Given the description of an element on the screen output the (x, y) to click on. 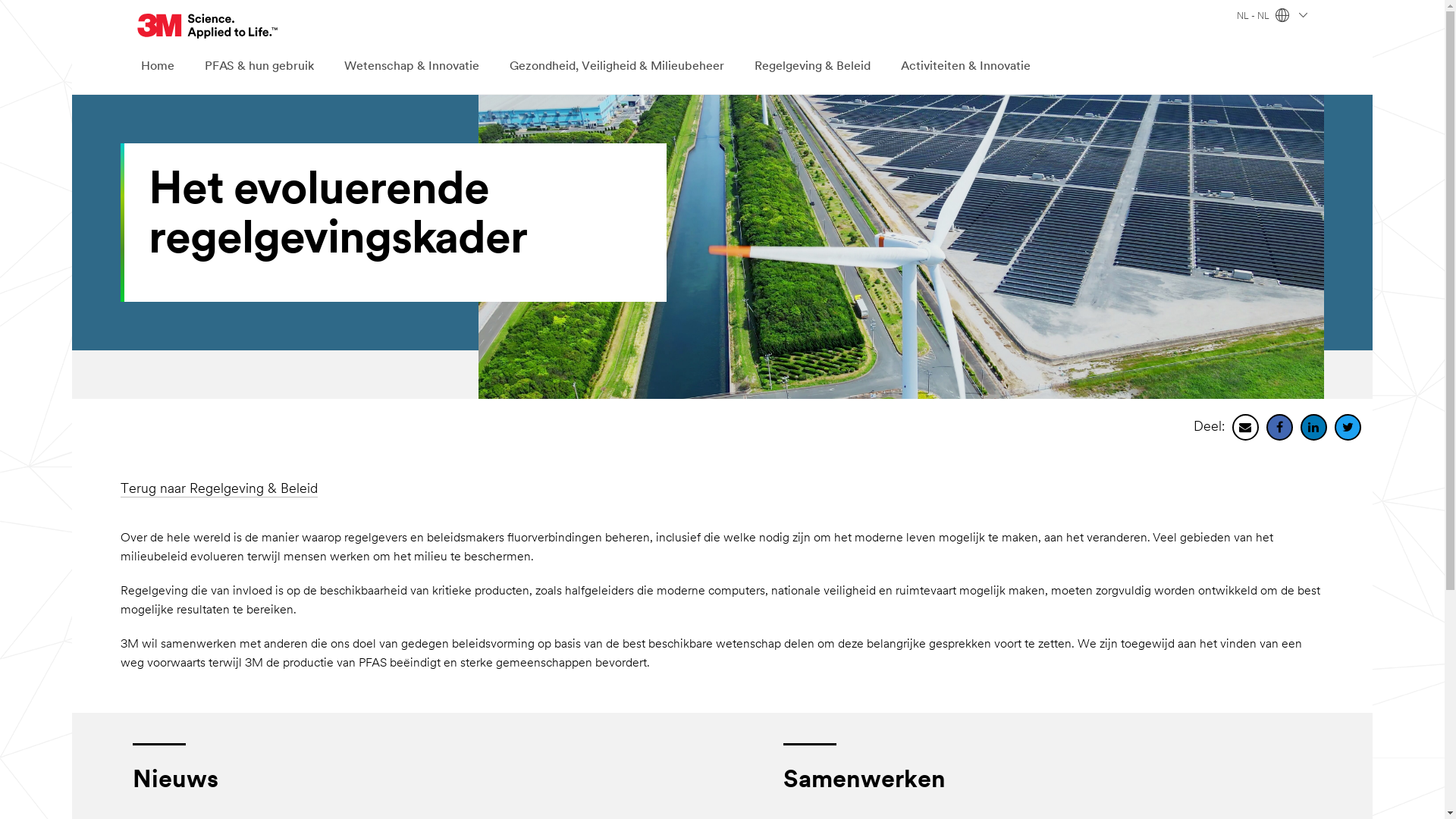
PFAS & hun gebruik Element type: text (259, 66)
Twitter Share Element type: hover (1347, 427)
3M in the United States Element type: hover (208, 25)
NL - NL Element type: text (1271, 16)
Facebook Share Element type: hover (1279, 427)
Terug naar Regelgeving & Beleid Element type: text (218, 489)
Gezondheid, Veiligheid & Milieubeheer Element type: text (616, 66)
email Element type: hover (1245, 427)
Linkedin Share Element type: hover (1313, 427)
Home Element type: text (157, 66)
Wetenschap & Innovatie Element type: text (411, 66)
Activiteiten & Innovatie Element type: text (965, 66)
Search Element type: text (988, 25)
Regelgeving & Beleid Element type: text (812, 66)
